Given the description of an element on the screen output the (x, y) to click on. 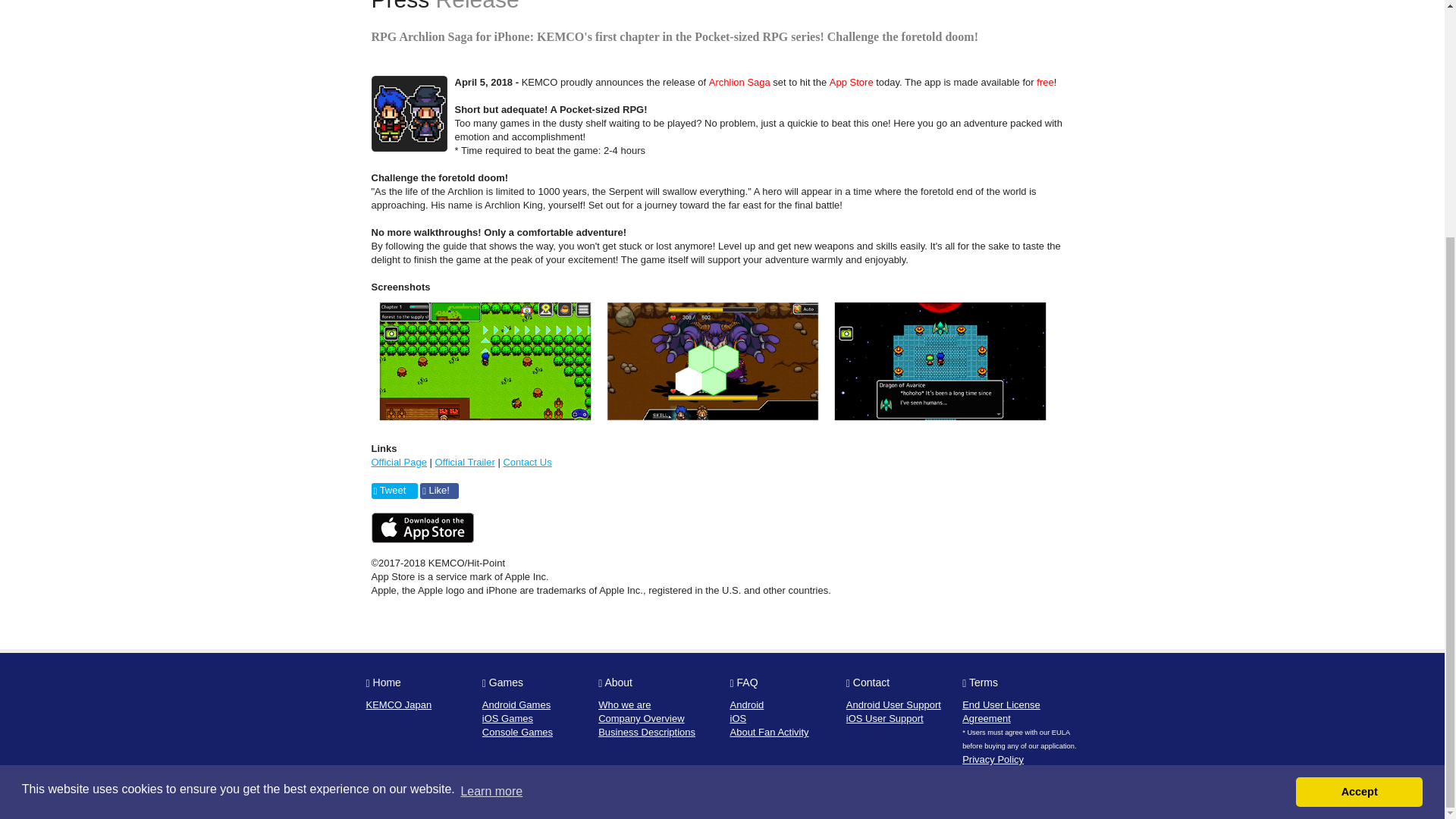
End User License Agreement (1001, 711)
Learn more (491, 467)
Tweet (394, 490)
KEMCO Japan (397, 704)
iOS Games (506, 717)
Like! (439, 490)
iOS (737, 717)
Android Games (515, 704)
Contact Us (526, 461)
Console Games (517, 731)
Privacy Policy (992, 758)
Tweet this page (394, 490)
Accept (1358, 467)
Android User Support (892, 704)
iOS User Support (884, 717)
